Given the description of an element on the screen output the (x, y) to click on. 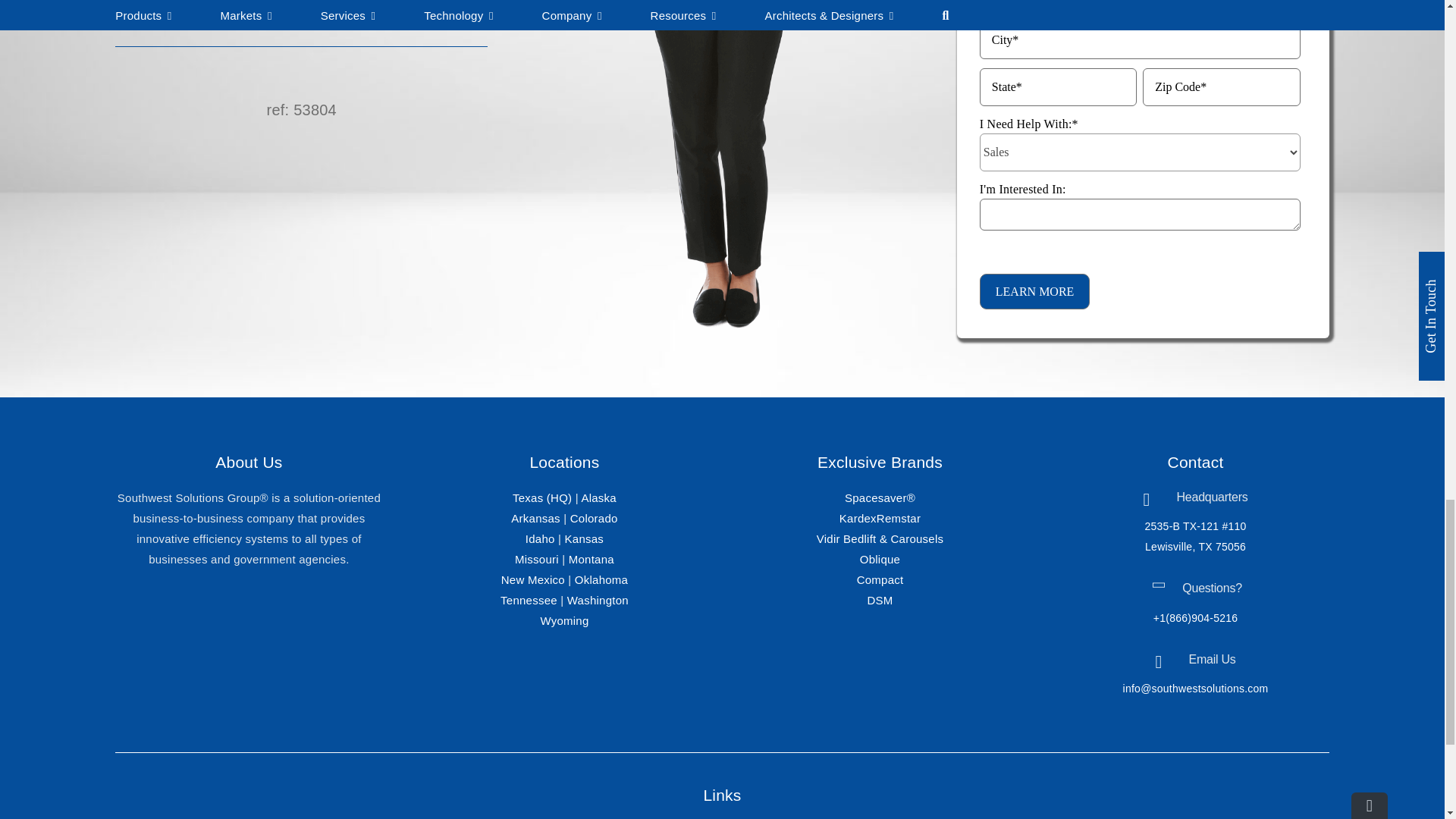
LEARN MORE (1034, 291)
